Given the description of an element on the screen output the (x, y) to click on. 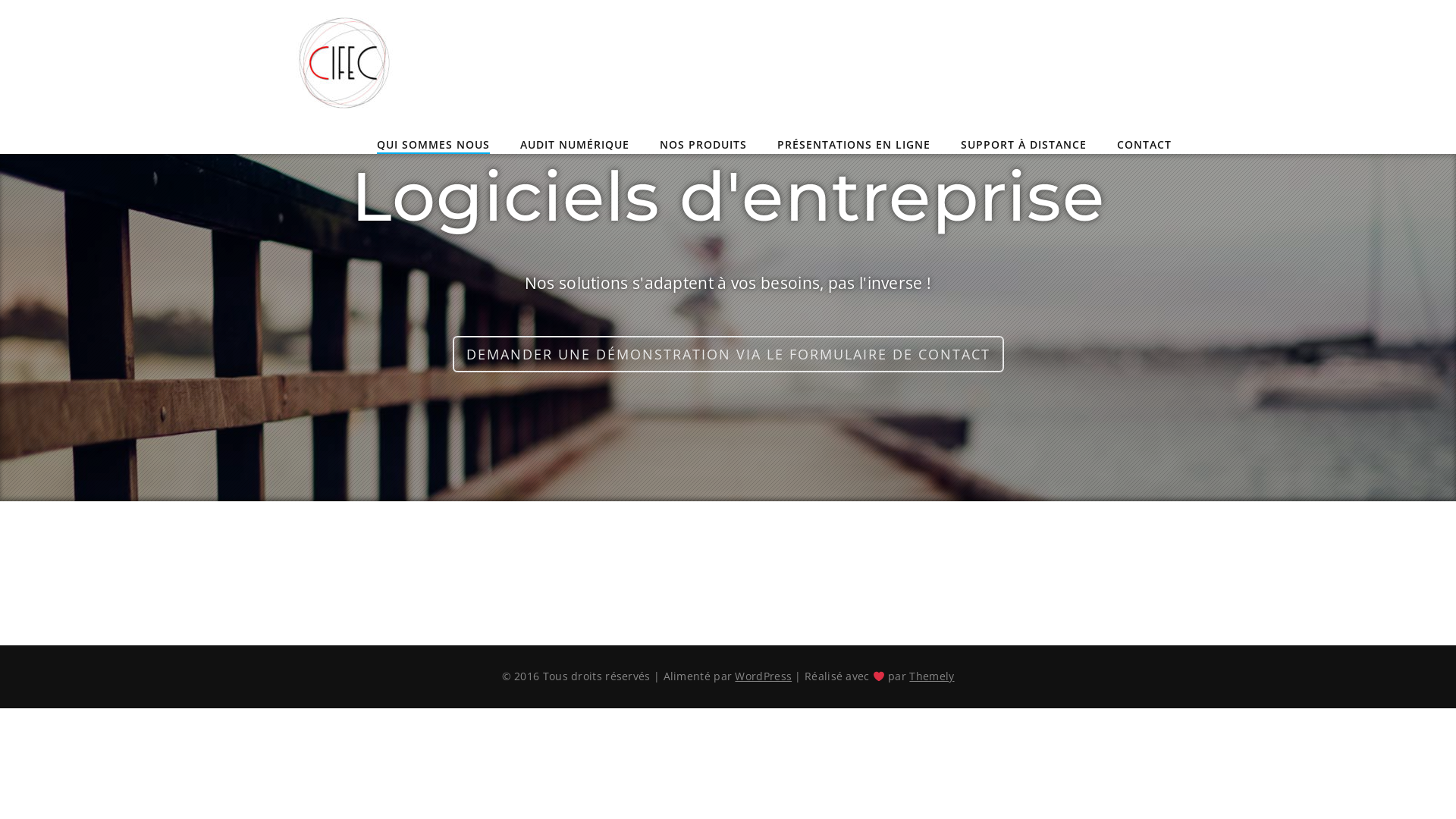
WordPress Element type: text (762, 675)
CONTACT Element type: text (1144, 145)
NOS PRODUITS Element type: text (702, 145)
QUI SOMMES NOUS Element type: text (432, 145)
Themely Element type: text (931, 675)
